Given the description of an element on the screen output the (x, y) to click on. 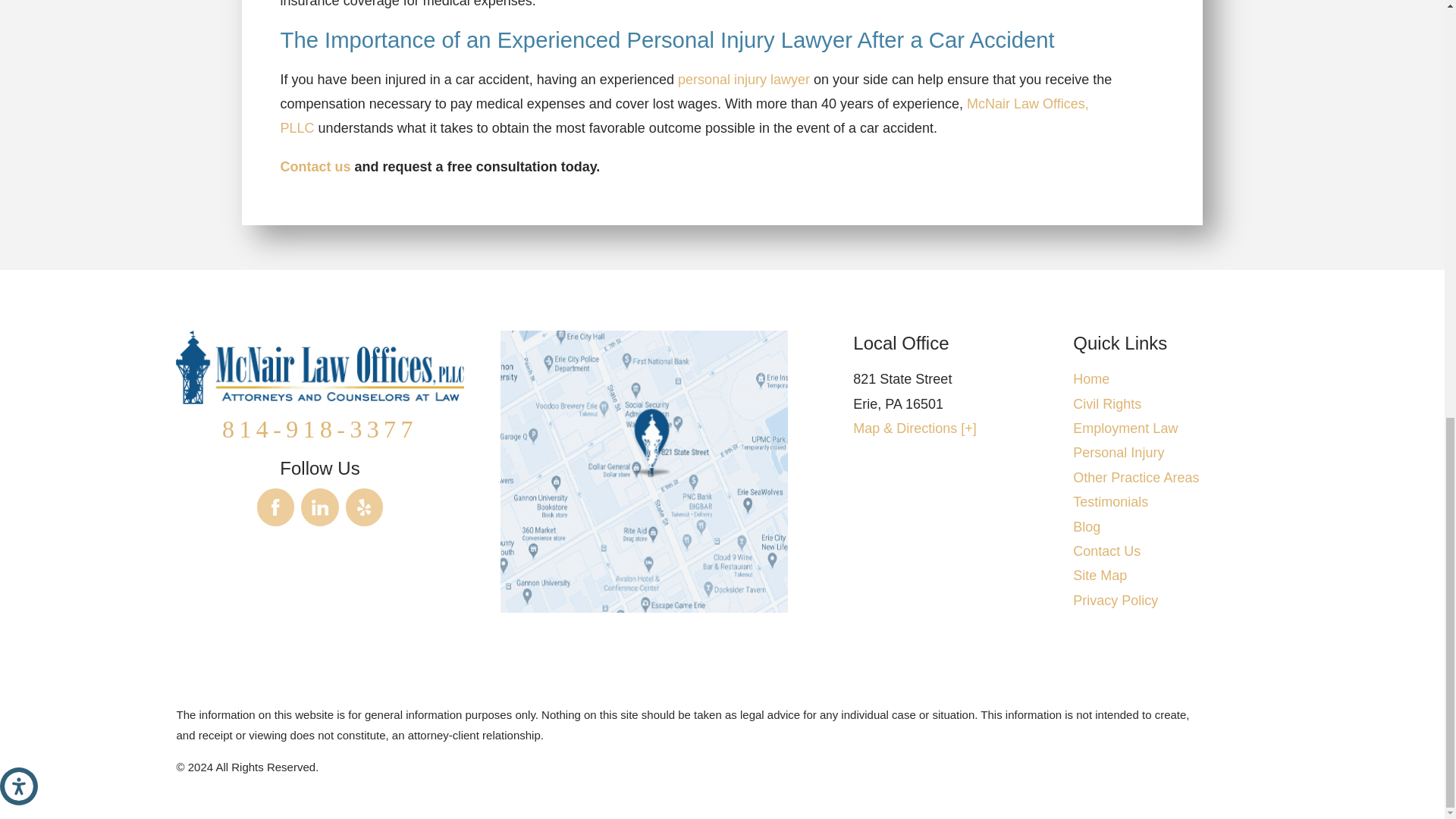
Yelp (365, 507)
LinkedIn (320, 507)
McNair Law Offices, PLLC (319, 367)
Facebook (276, 507)
